Given the description of an element on the screen output the (x, y) to click on. 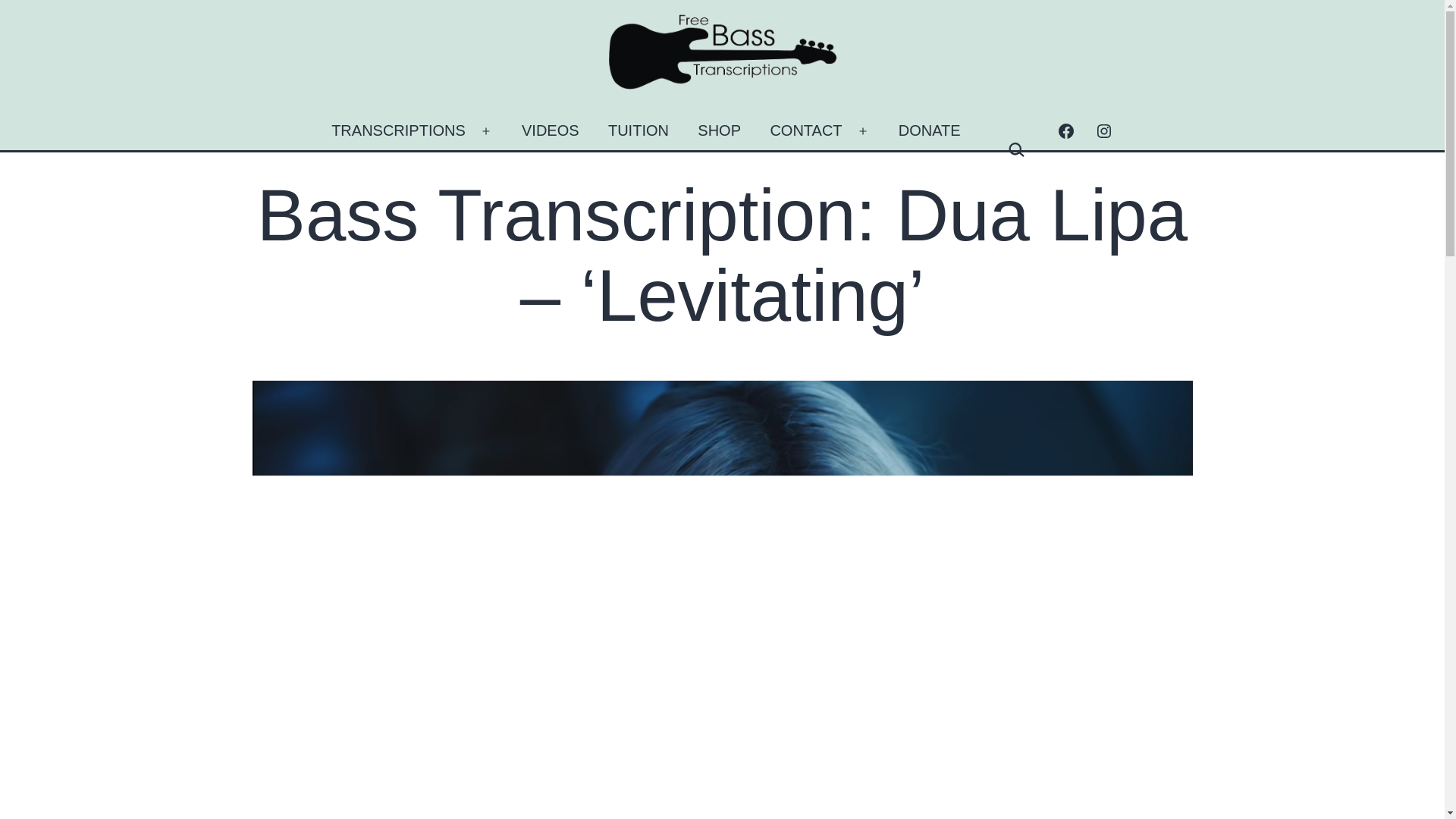
CONTACT (805, 130)
DONATE (929, 130)
TRANSCRIPTIONS (398, 130)
INSTAGRAM (1103, 130)
TUITION (638, 130)
FACEBOOK (1065, 130)
VIDEOS (550, 130)
SHOP (719, 130)
